Given the description of an element on the screen output the (x, y) to click on. 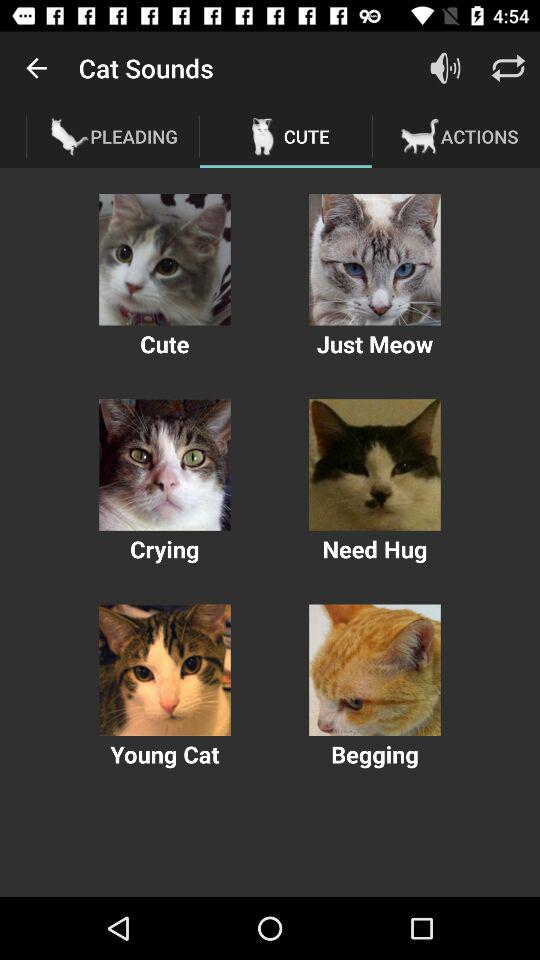
animal image (164, 464)
